Given the description of an element on the screen output the (x, y) to click on. 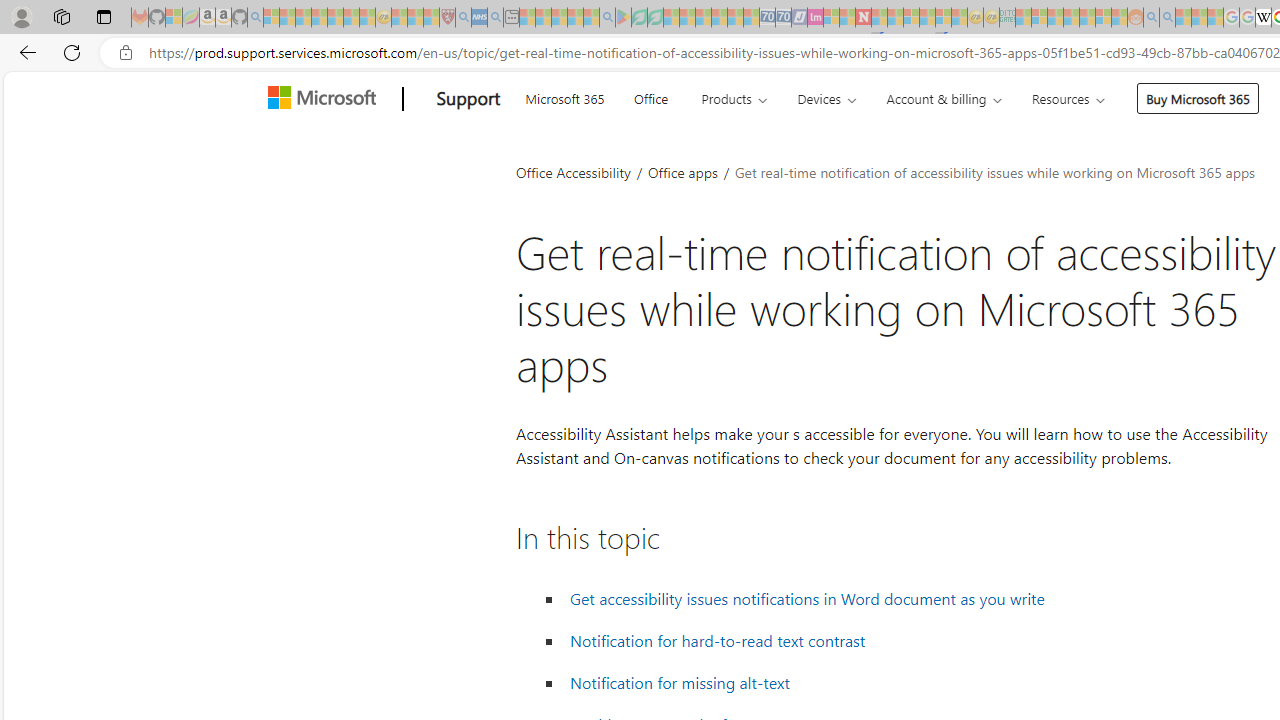
Target page - Wikipedia (1263, 17)
